Given the description of an element on the screen output the (x, y) to click on. 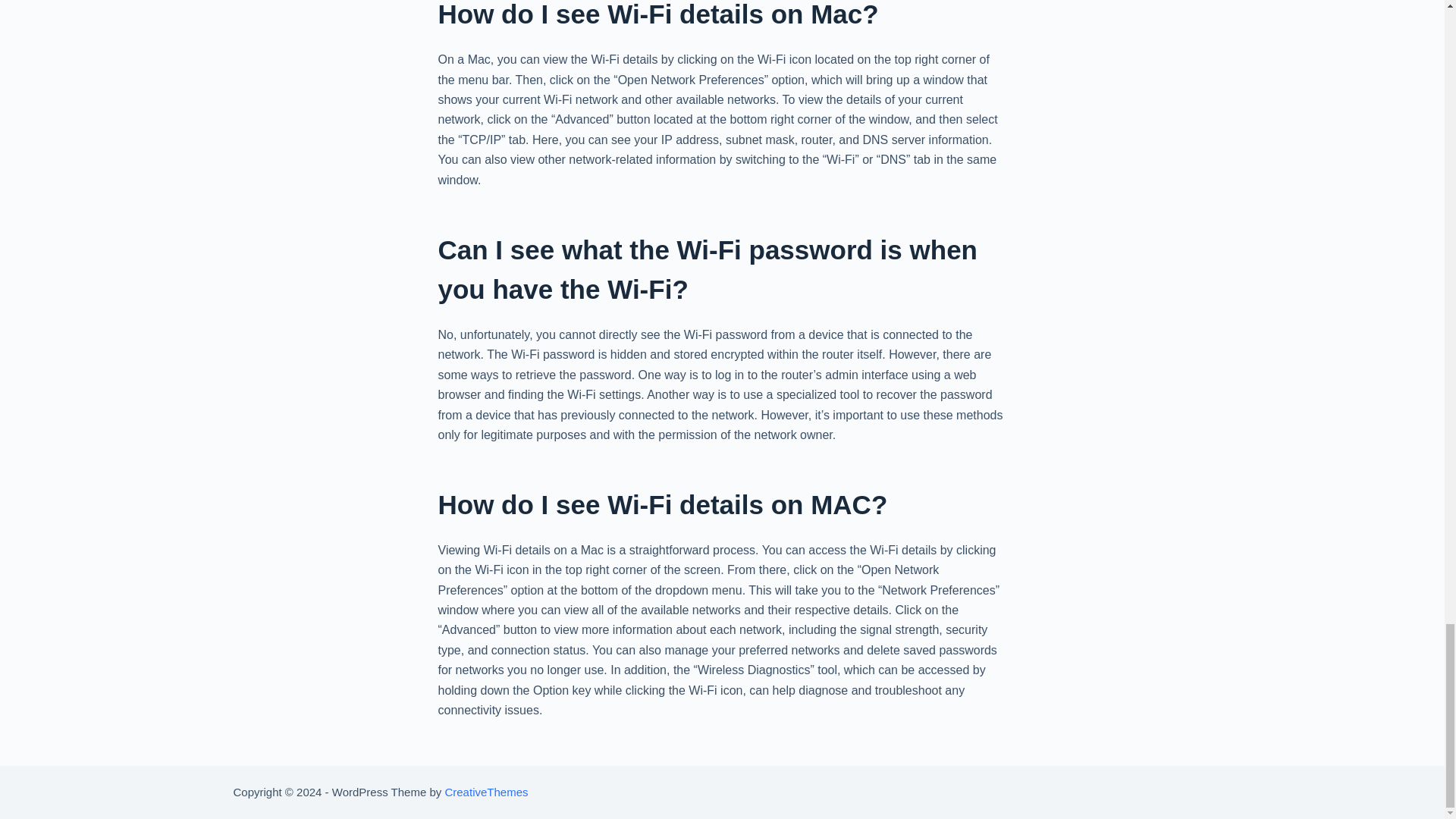
CreativeThemes (485, 791)
